Given the description of an element on the screen output the (x, y) to click on. 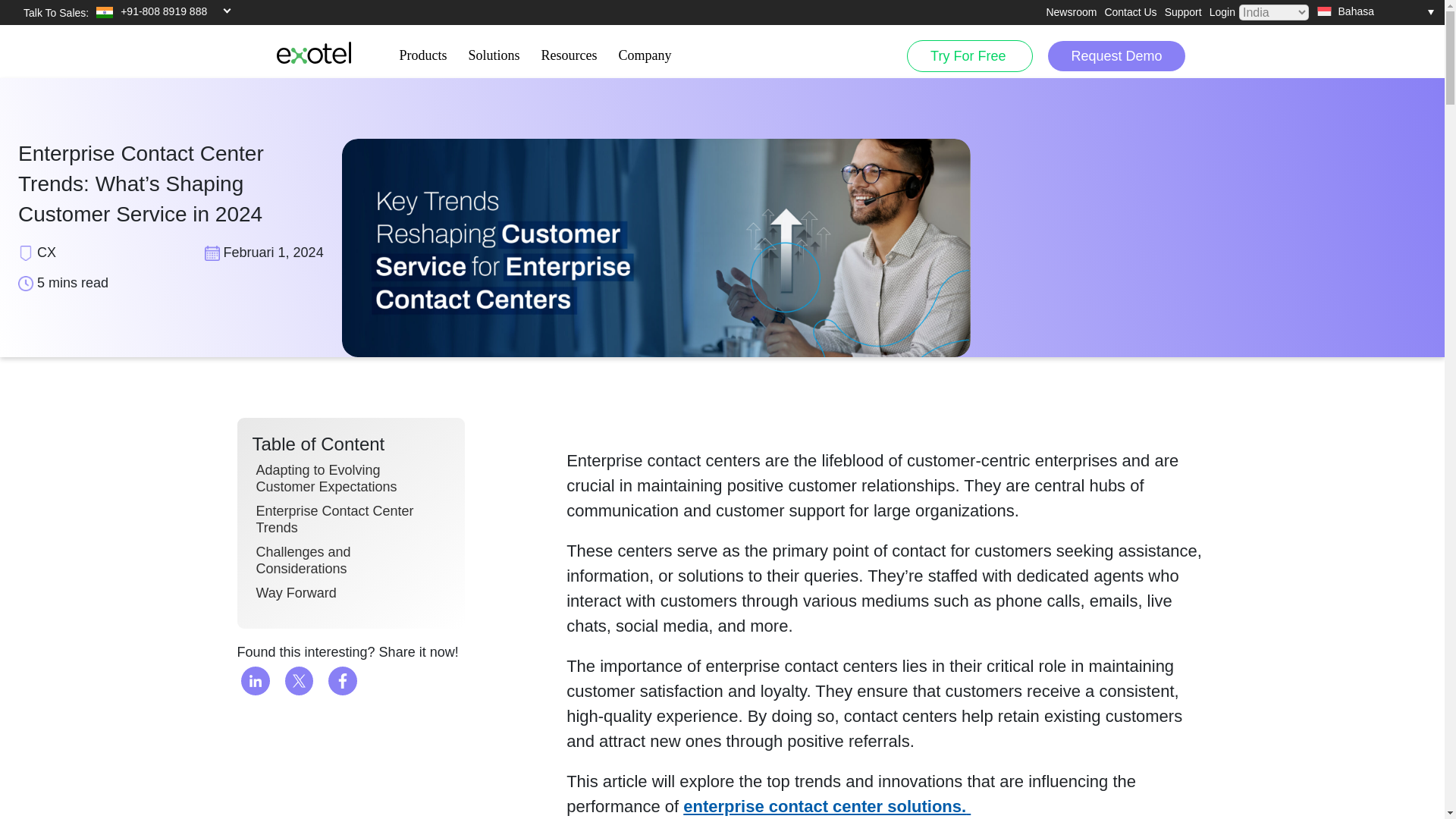
Contact Us (1129, 12)
Products (422, 49)
Login (1221, 12)
Newsroom (1070, 12)
Bahasa (1374, 11)
Support (1183, 12)
